Given the description of an element on the screen output the (x, y) to click on. 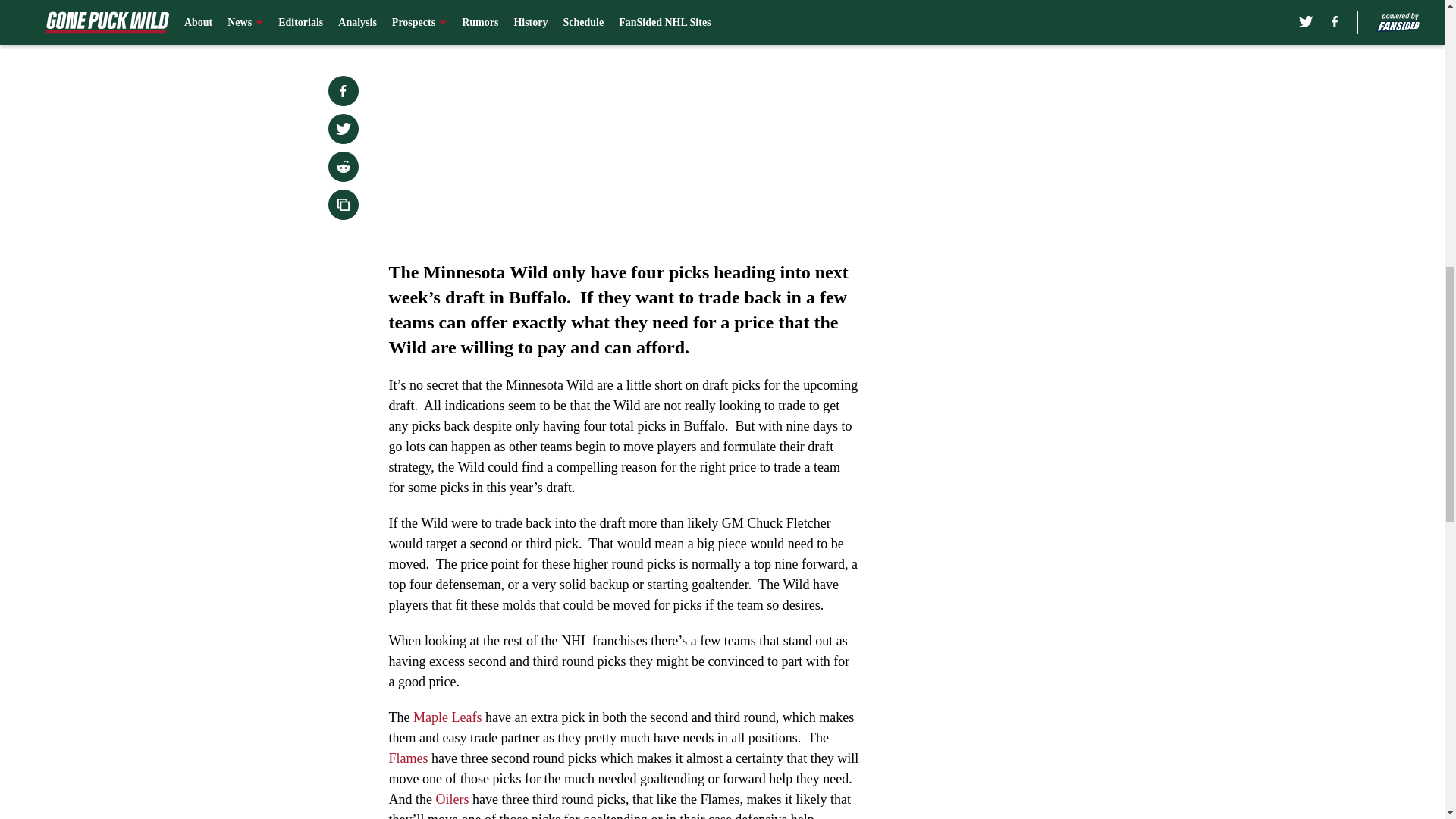
Oilers (453, 798)
Flames (408, 758)
Maple Leafs (448, 717)
